Given the description of an element on the screen output the (x, y) to click on. 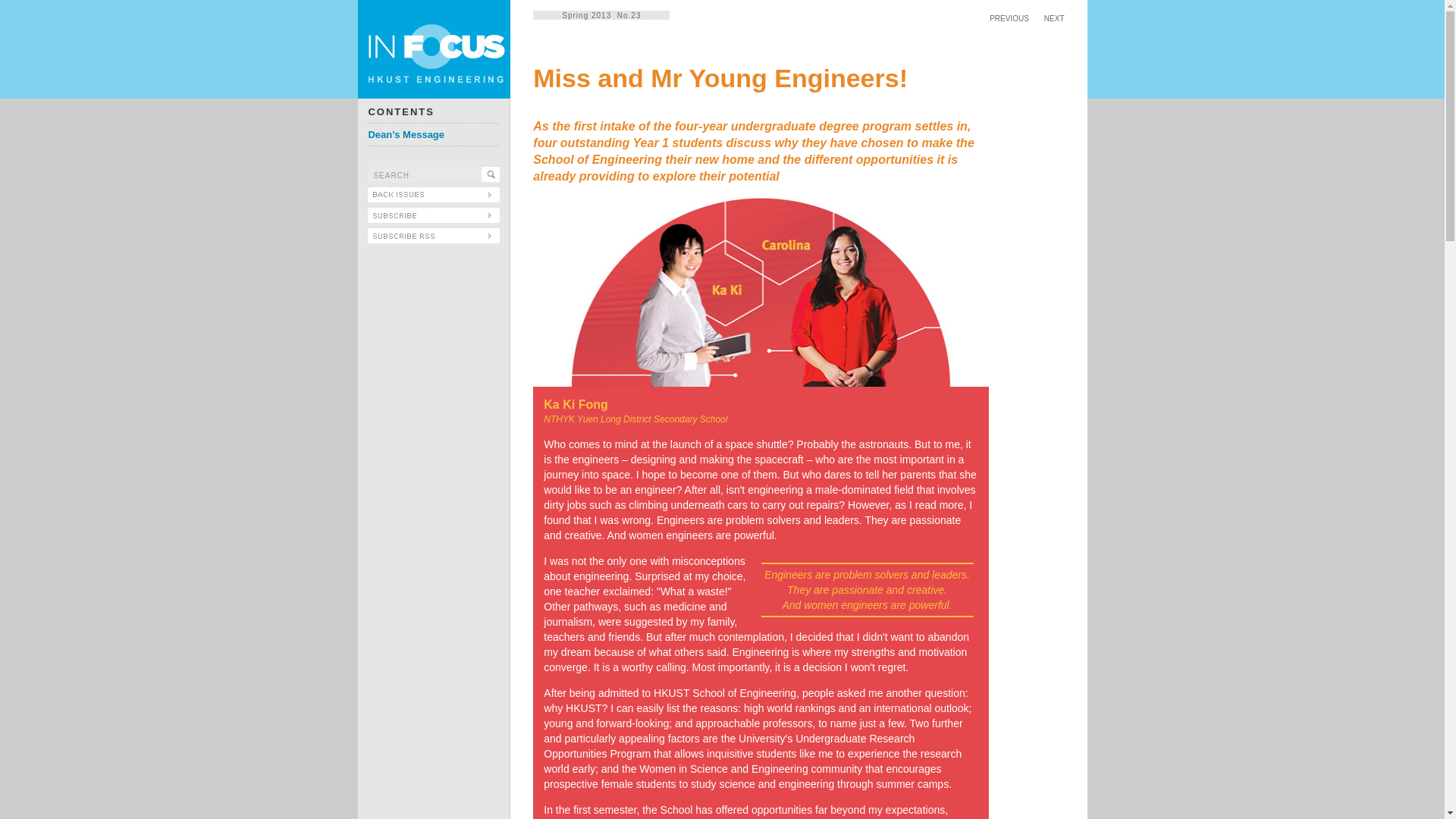
Dean's Message (406, 134)
SEARCH (424, 174)
PREVIOUS (1009, 17)
NEXT (1053, 17)
CONTENTS (400, 111)
